Given the description of an element on the screen output the (x, y) to click on. 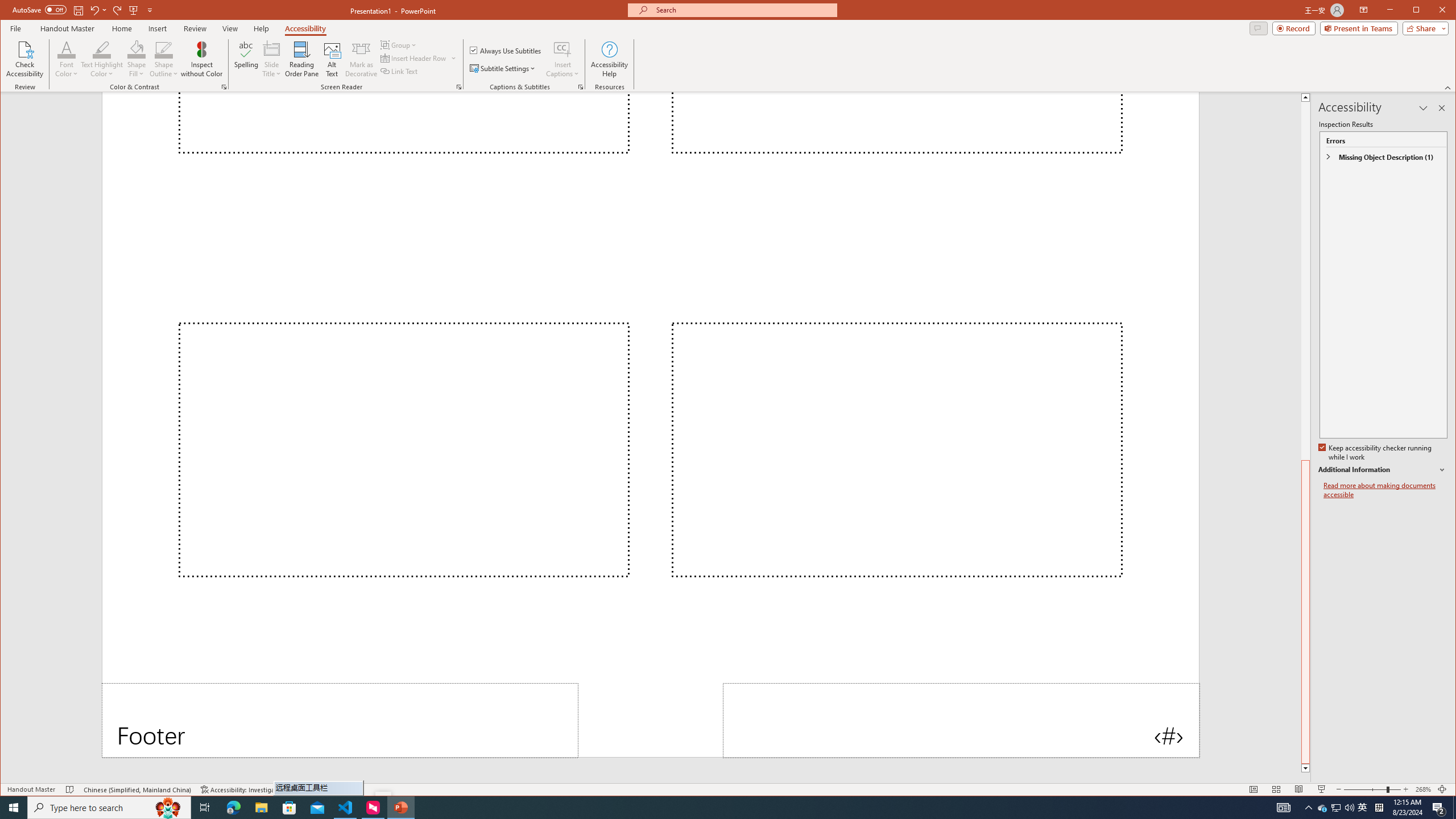
Close (1444, 11)
User Promoted Notification Area (1336, 807)
Q2790: 100% (1349, 807)
Task Pane Options (1422, 107)
Show desktop (1454, 807)
Color & Contrast (223, 86)
Normal (1253, 789)
Quick Access Toolbar (83, 9)
Accessibility Checker Accessibility: Investigate (1335, 807)
Task View (240, 789)
Microsoft search (204, 807)
Redo (1362, 807)
